Given the description of an element on the screen output the (x, y) to click on. 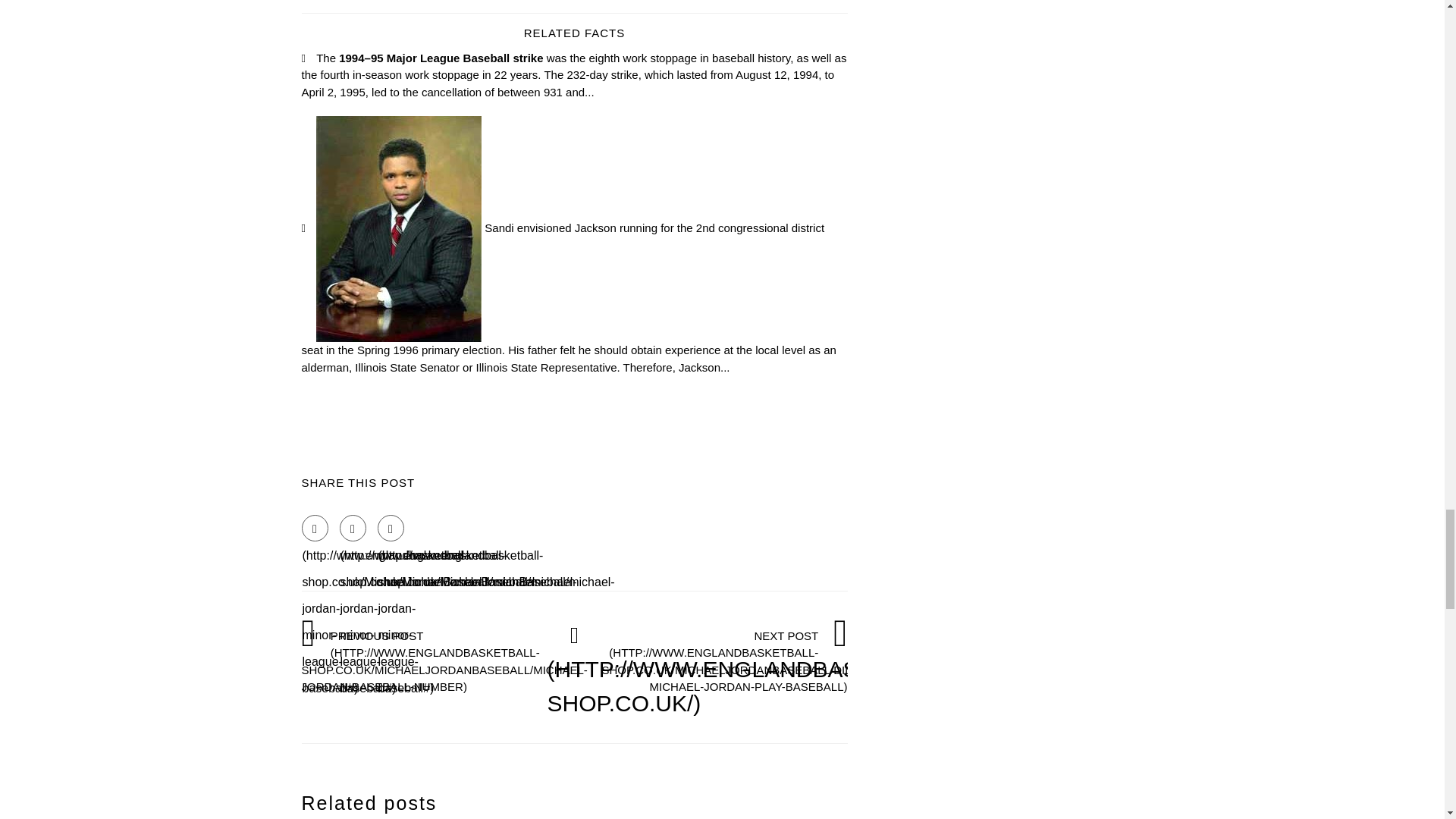
NEXT POST (729, 660)
PREVIOUS POST (444, 660)
Twitter (352, 528)
Facebook (315, 528)
Google Plus (390, 528)
